Given the description of an element on the screen output the (x, y) to click on. 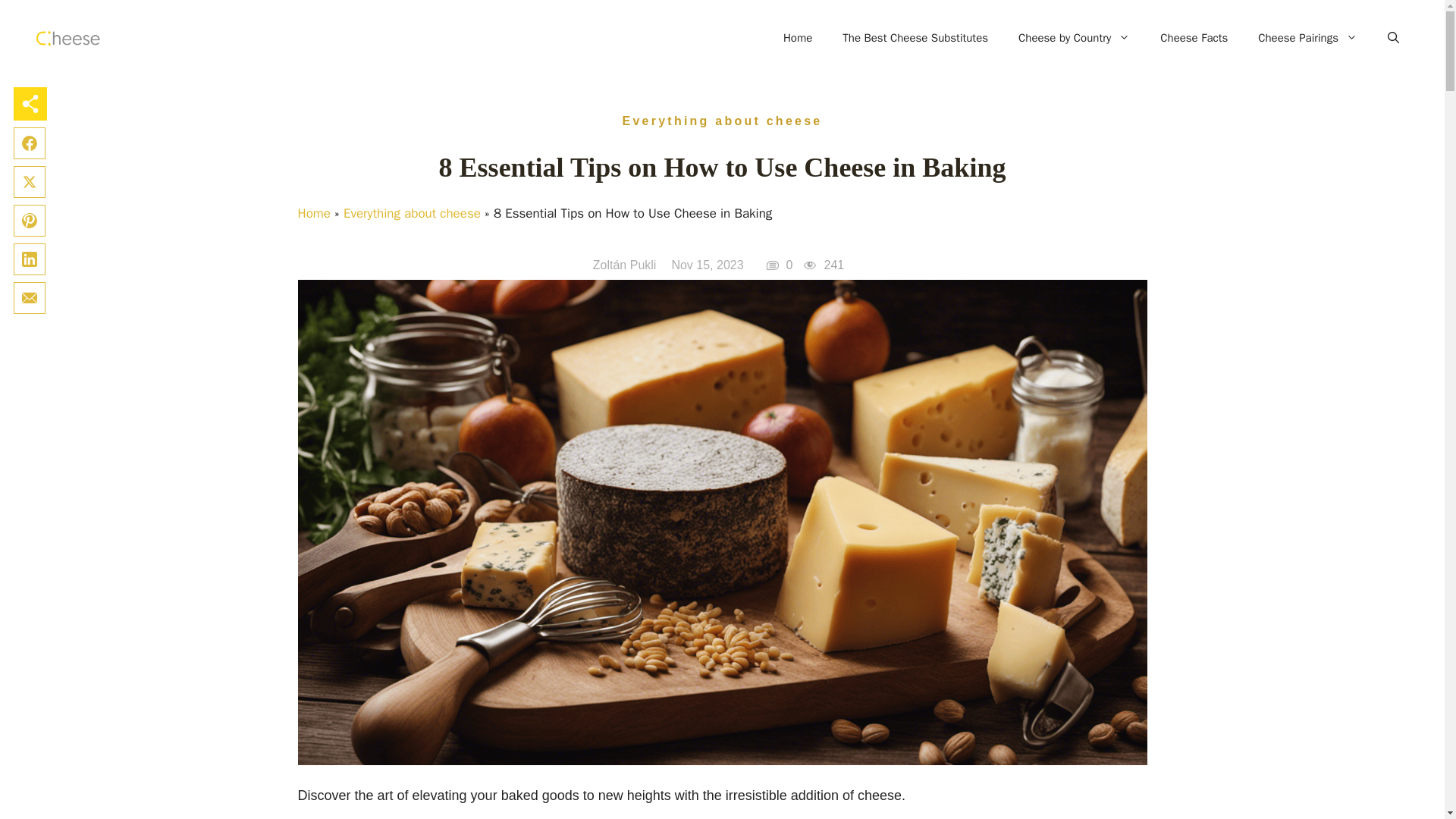
Cheese Facts (1193, 37)
Home (797, 37)
Cheese Pairings (1308, 37)
Everything about cheese (411, 213)
Home (313, 213)
Everything about cheese (722, 121)
The Best Cheese Substitutes (915, 37)
Home (797, 37)
Cheese by Country (1073, 37)
